Given the description of an element on the screen output the (x, y) to click on. 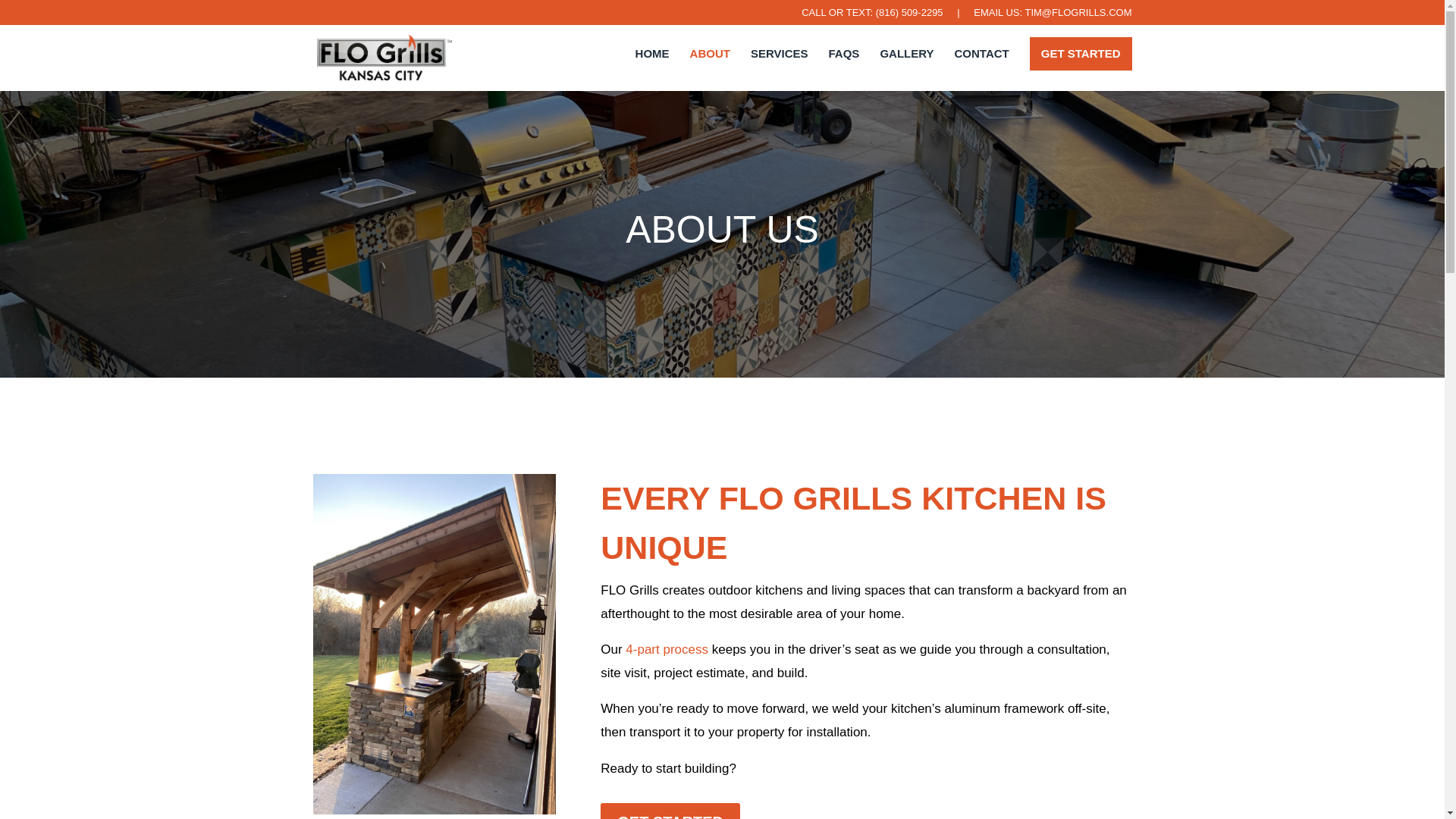
GALLERY (906, 69)
CONTACT (982, 69)
SERVICES (779, 69)
GET STARTED (669, 811)
GET STARTED (1080, 52)
ABOUT (710, 69)
4-part process (666, 649)
